Given the description of an element on the screen output the (x, y) to click on. 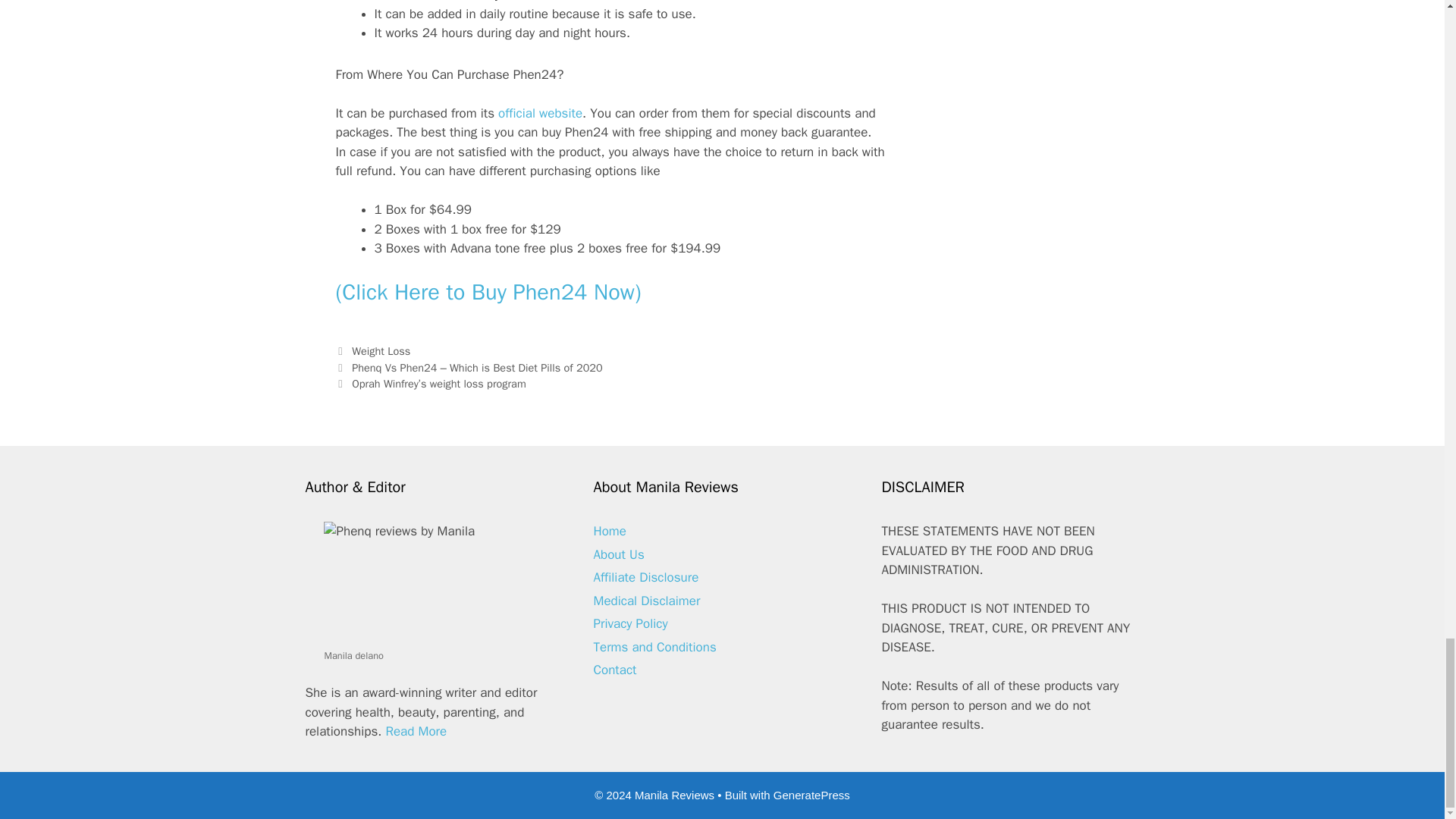
GeneratePress (811, 794)
Terms and Conditions (654, 647)
Home (609, 530)
official website (539, 113)
Privacy Policy (629, 623)
Read More (415, 731)
About Us (617, 554)
Affiliate Disclosure (645, 577)
Weight Loss (381, 350)
Contact (614, 669)
